Given the description of an element on the screen output the (x, y) to click on. 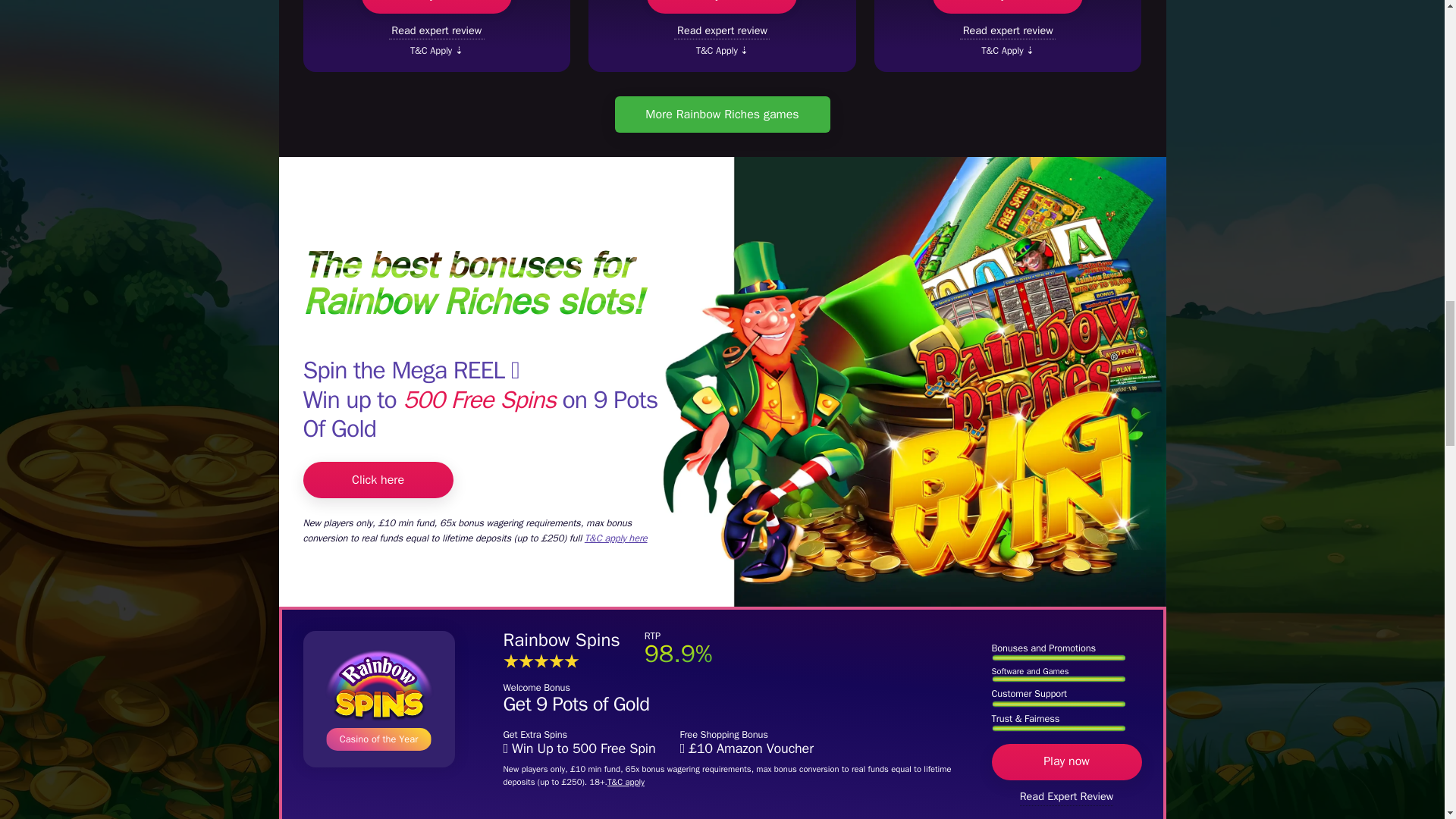
Play now (1008, 6)
Rainbow Riches Casino (378, 698)
Play now (436, 6)
Play now (721, 6)
Read expert review (722, 26)
Read expert review (436, 26)
